Given the description of an element on the screen output the (x, y) to click on. 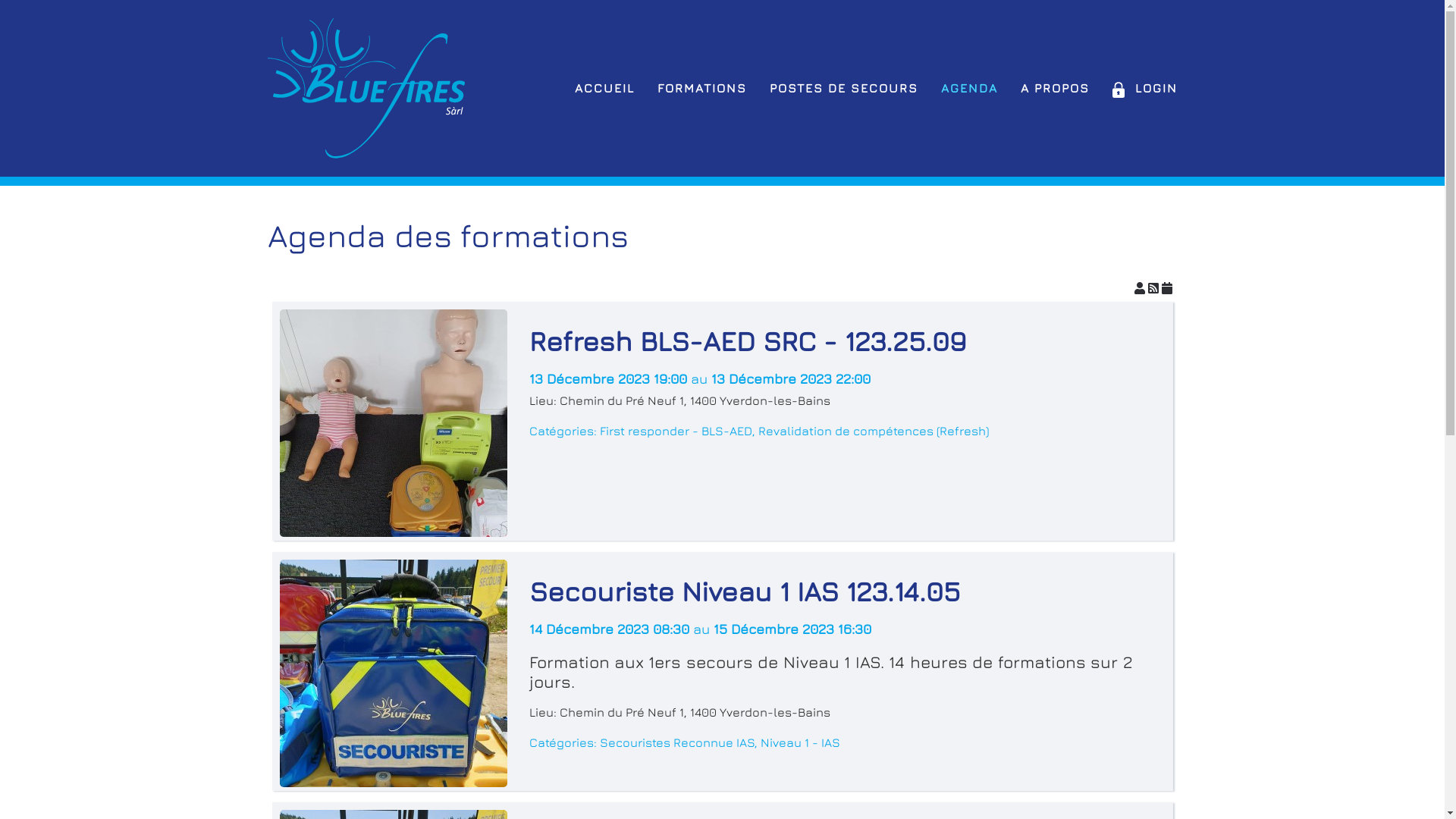
ACCUEIL Element type: text (604, 87)
Secouristes Reconnue IAS Element type: text (676, 742)
A PROPOS Element type: text (1054, 87)
Secouriste Niveau 1 IAS 123.14.05 Element type: text (744, 590)
AGENDA Element type: text (968, 87)
Niveau 1 - IAS Element type: text (799, 742)
FORMATIONS Element type: text (701, 87)
LOGIN Element type: text (1143, 87)
POSTES DE SECOURS Element type: text (842, 87)
First responder - BLS-AED Element type: text (675, 430)
Refresh BLS-AED SRC - 123.25.09 Element type: text (747, 340)
